Given the description of an element on the screen output the (x, y) to click on. 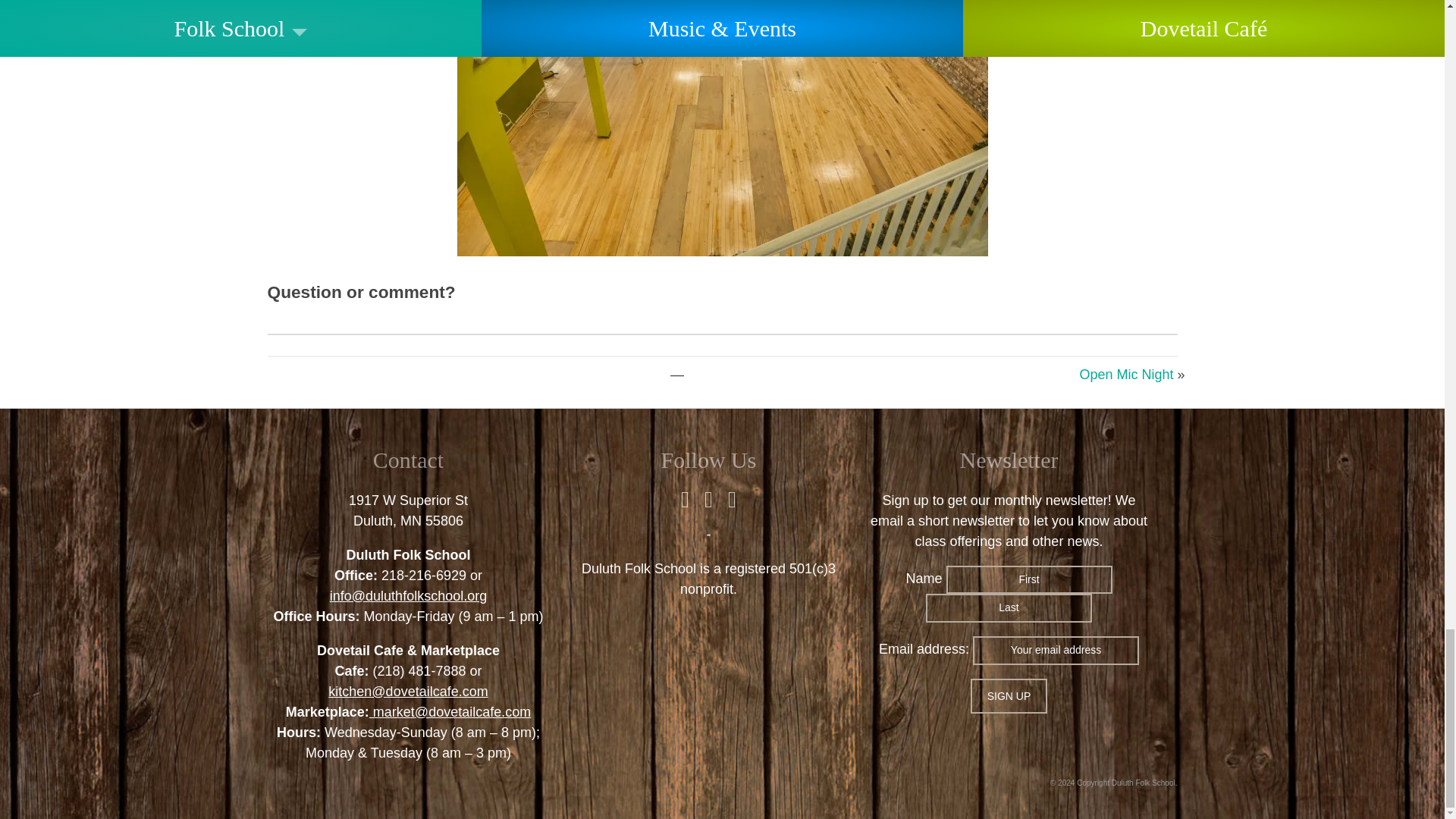
Sign up (1009, 695)
